Given the description of an element on the screen output the (x, y) to click on. 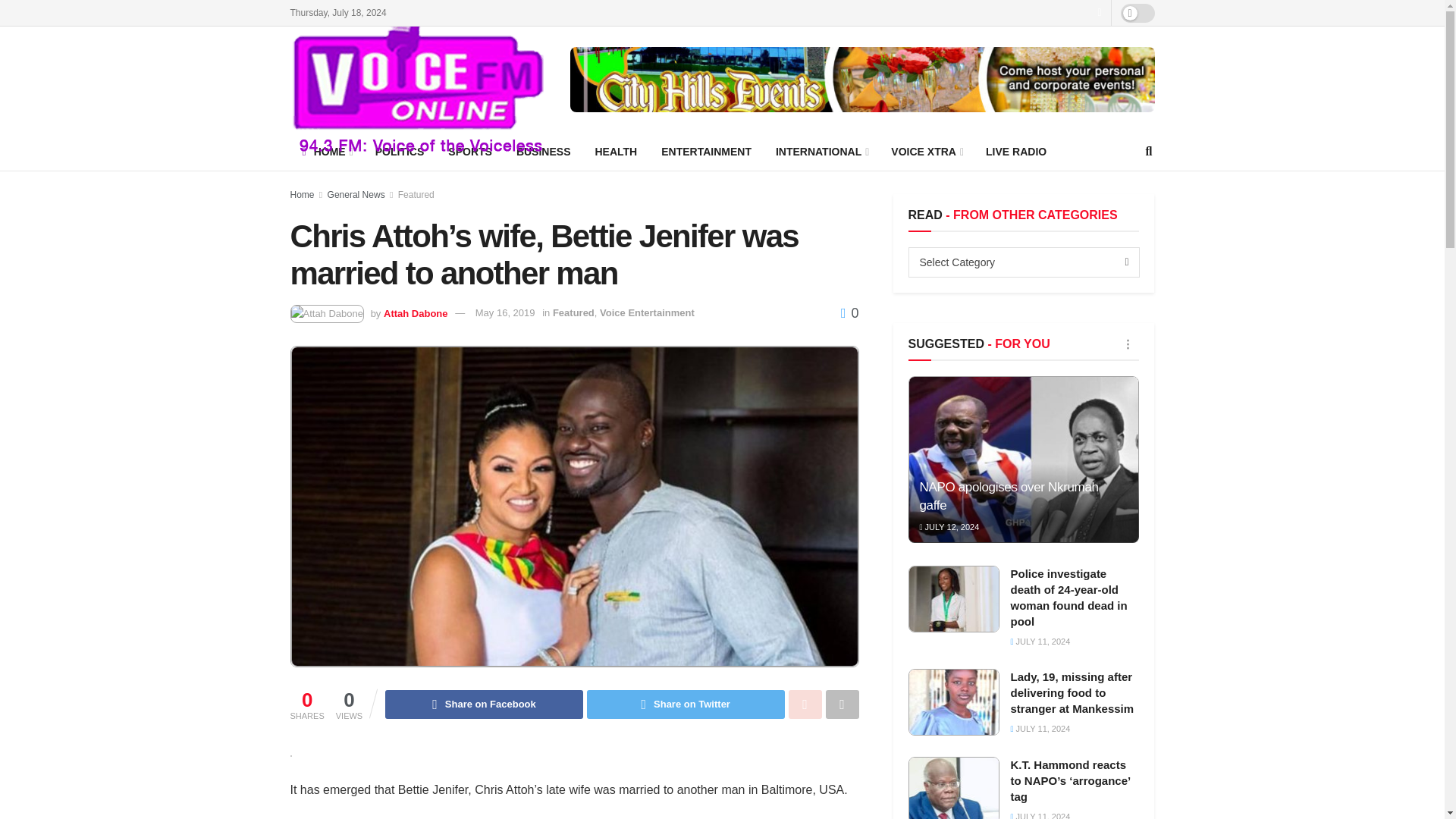
BUSINESS (543, 151)
HEALTH (615, 151)
HOME (325, 151)
ENTERTAINMENT (705, 151)
POLITICS (399, 151)
INTERNATIONAL (820, 151)
SPORTS (469, 151)
